Given the description of an element on the screen output the (x, y) to click on. 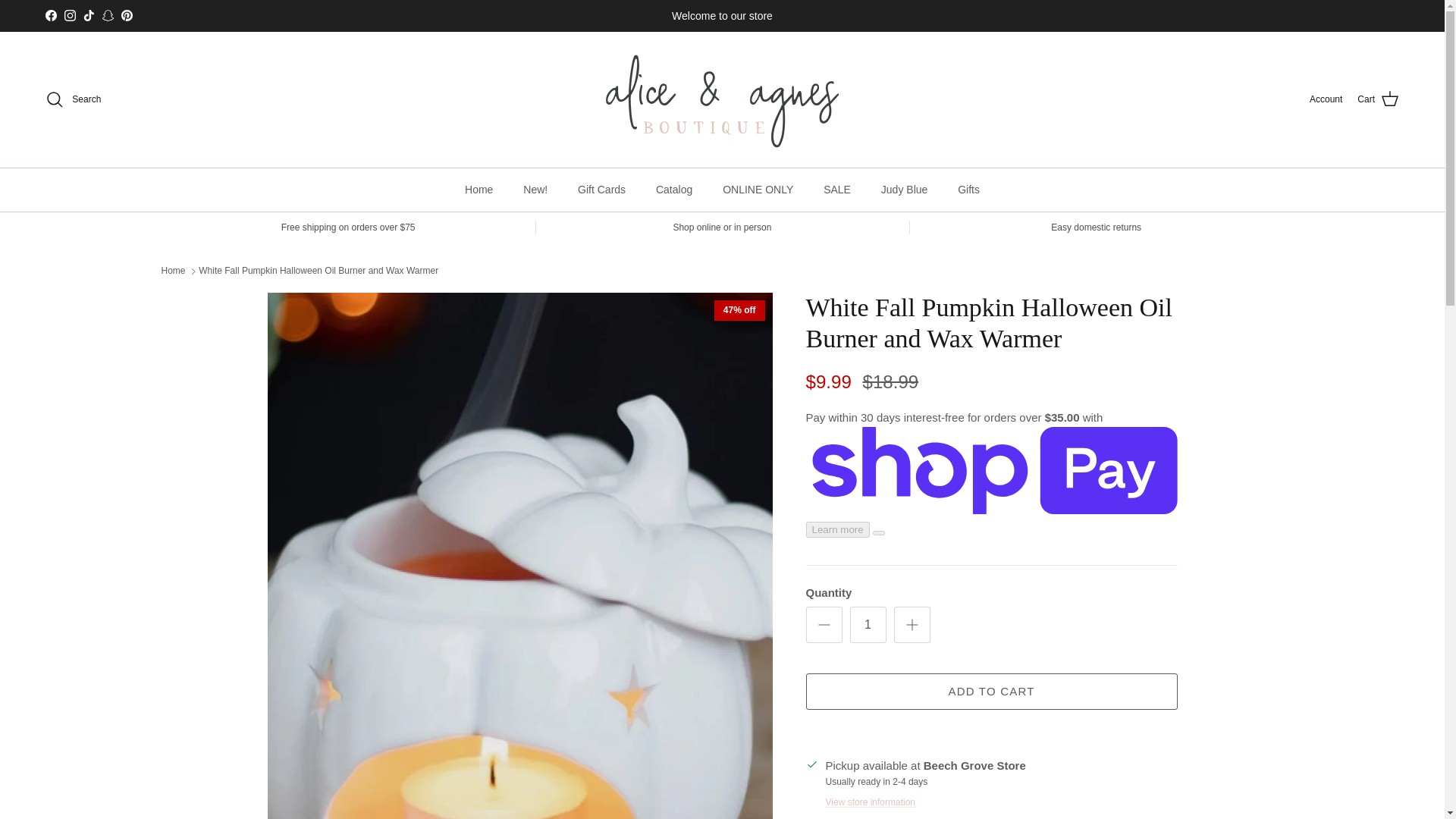
Gifts (967, 189)
Pinterest (126, 15)
Judy Blue (903, 189)
1 (866, 624)
Search (72, 99)
Cart (1377, 98)
SALE (836, 189)
Catalog (674, 189)
Home (478, 189)
Gift Cards (601, 189)
